Given the description of an element on the screen output the (x, y) to click on. 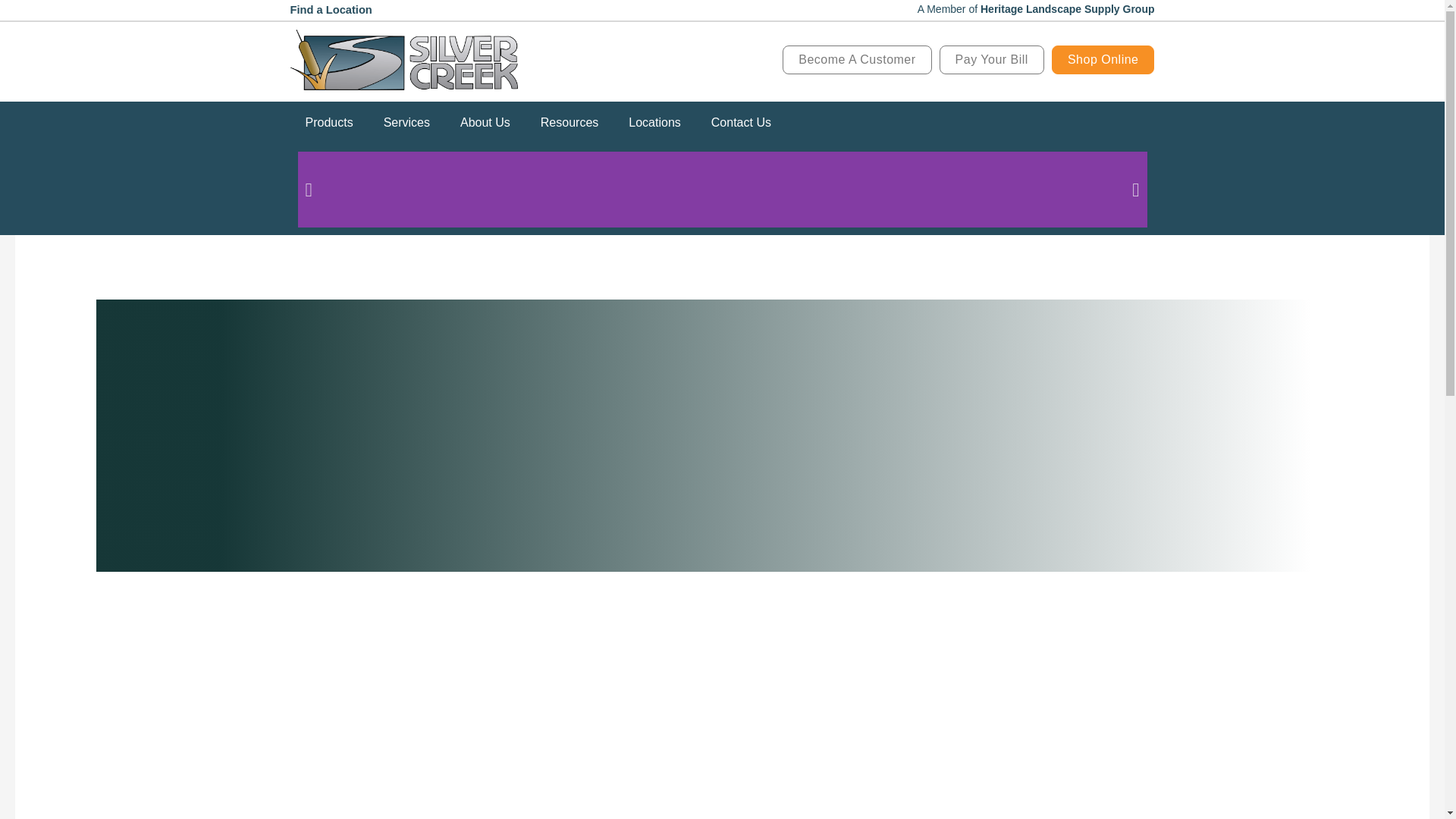
Become A Customer (857, 59)
Find a Location (330, 9)
Services (406, 122)
Heritage Landscape Supply Group (1066, 9)
Shop Online (1102, 59)
Pay Your Bill (991, 59)
Locations (653, 122)
Products (328, 122)
About Us (485, 122)
Resources (568, 122)
